Given the description of an element on the screen output the (x, y) to click on. 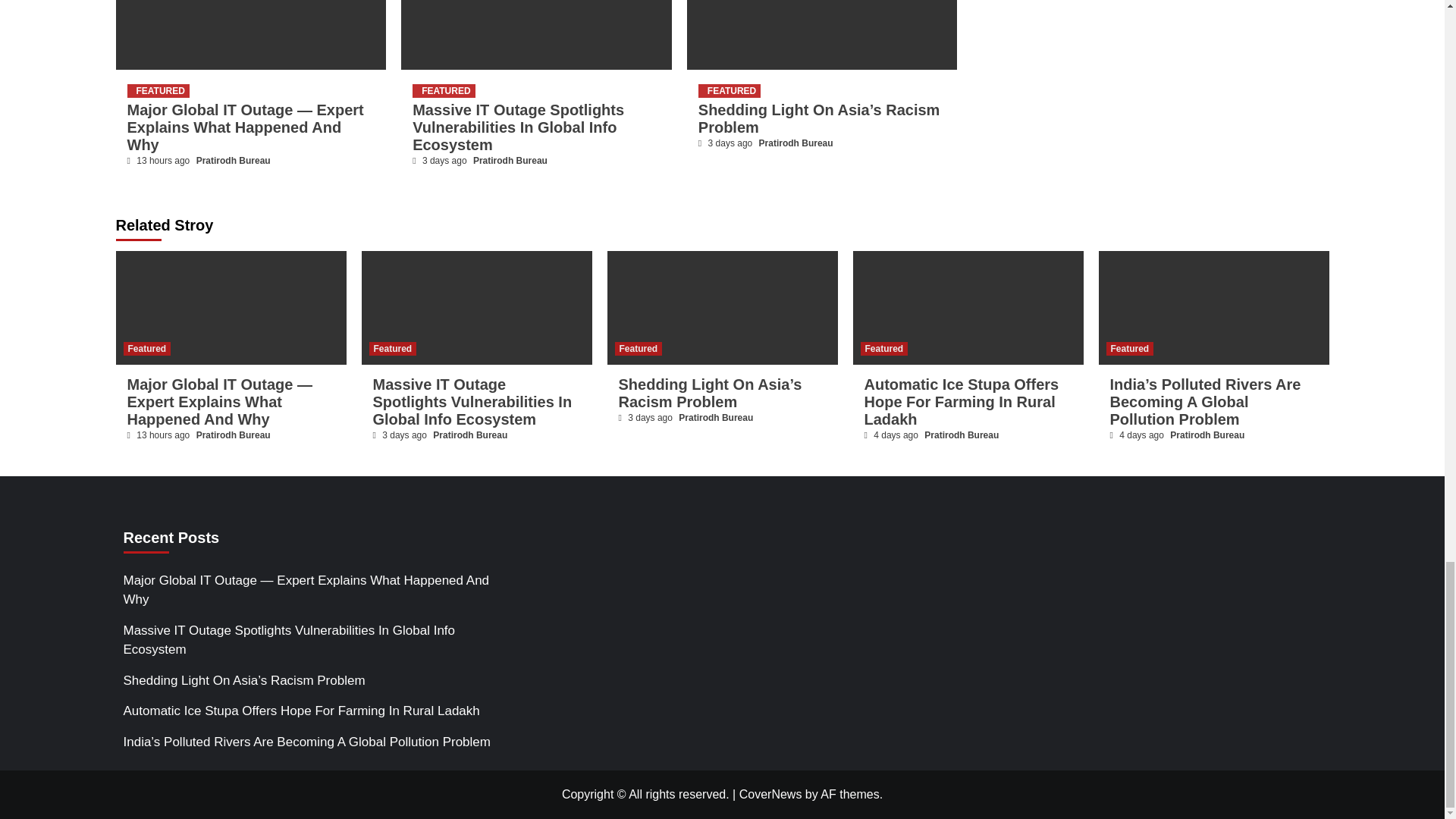
Pratirodh Bureau (233, 160)
Pratirodh Bureau (795, 143)
FEATURED (158, 90)
Pratirodh Bureau (510, 160)
FEATURED (729, 90)
FEATURED (443, 90)
